Given the description of an element on the screen output the (x, y) to click on. 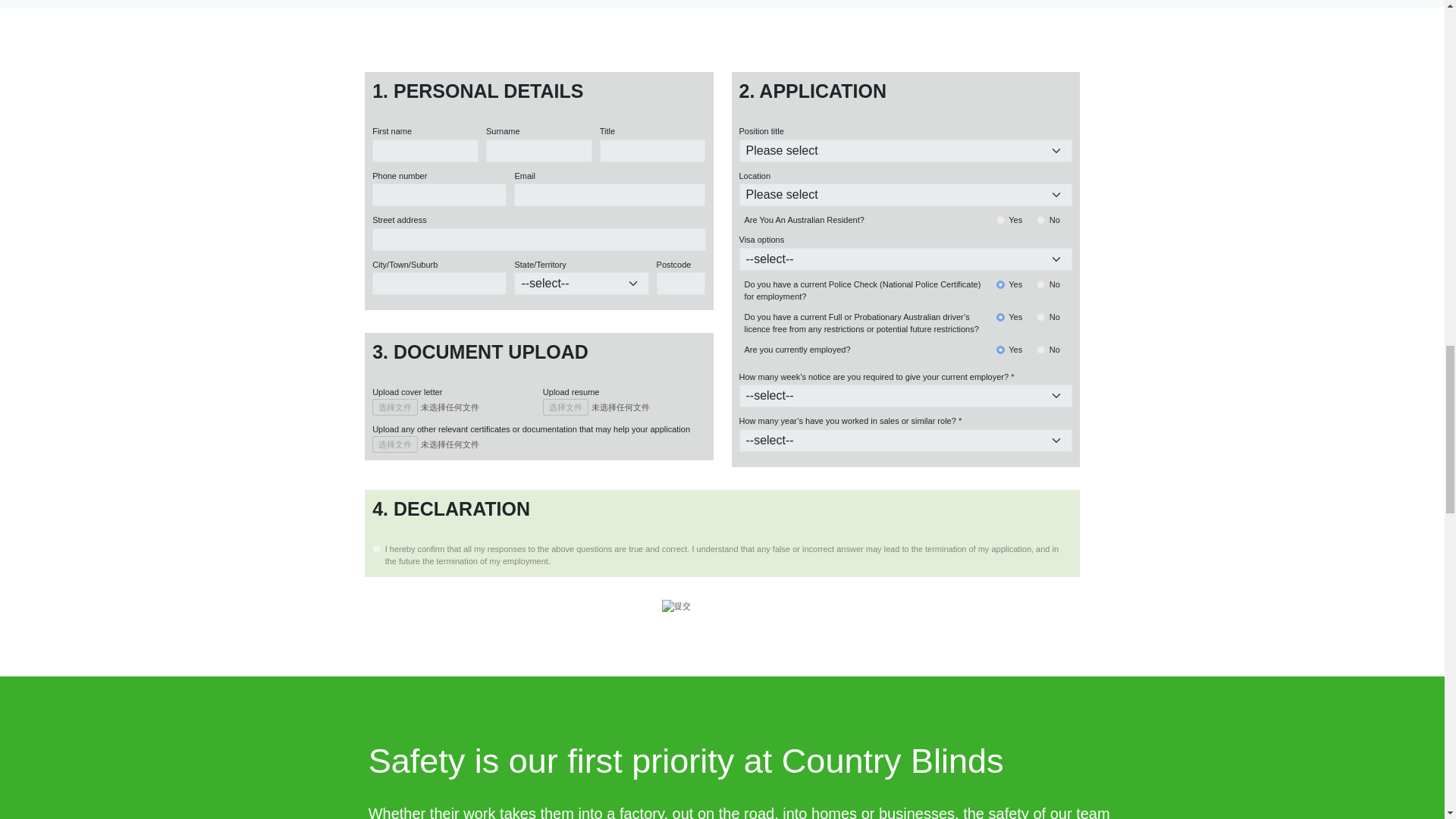
No (1040, 220)
No (1040, 284)
No (1040, 316)
Yes (999, 316)
Yes (999, 220)
Yes (999, 284)
Yes (999, 349)
yes (376, 549)
No (1040, 349)
